Given the description of an element on the screen output the (x, y) to click on. 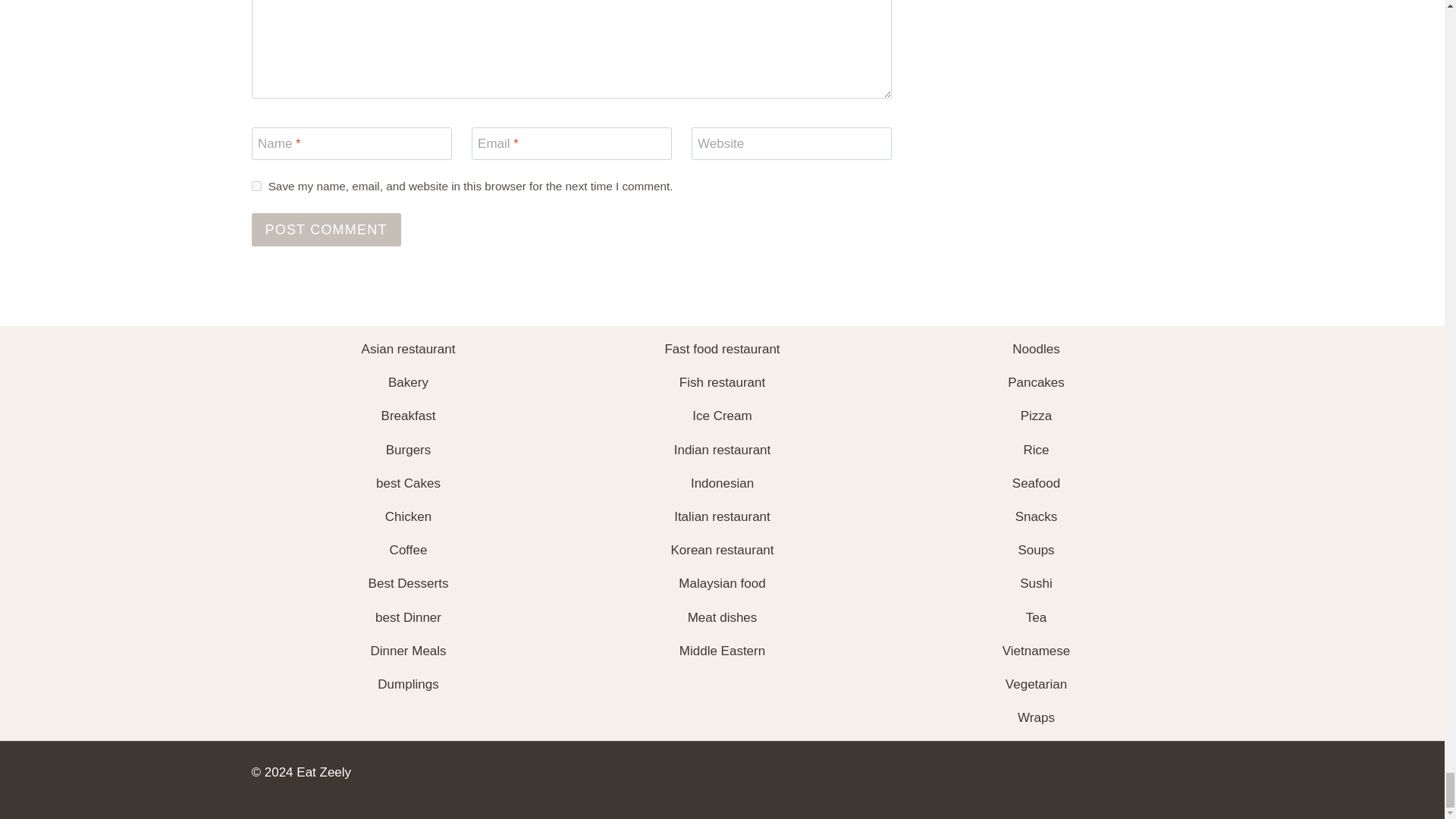
Post Comment (326, 228)
yes (256, 185)
